Given the description of an element on the screen output the (x, y) to click on. 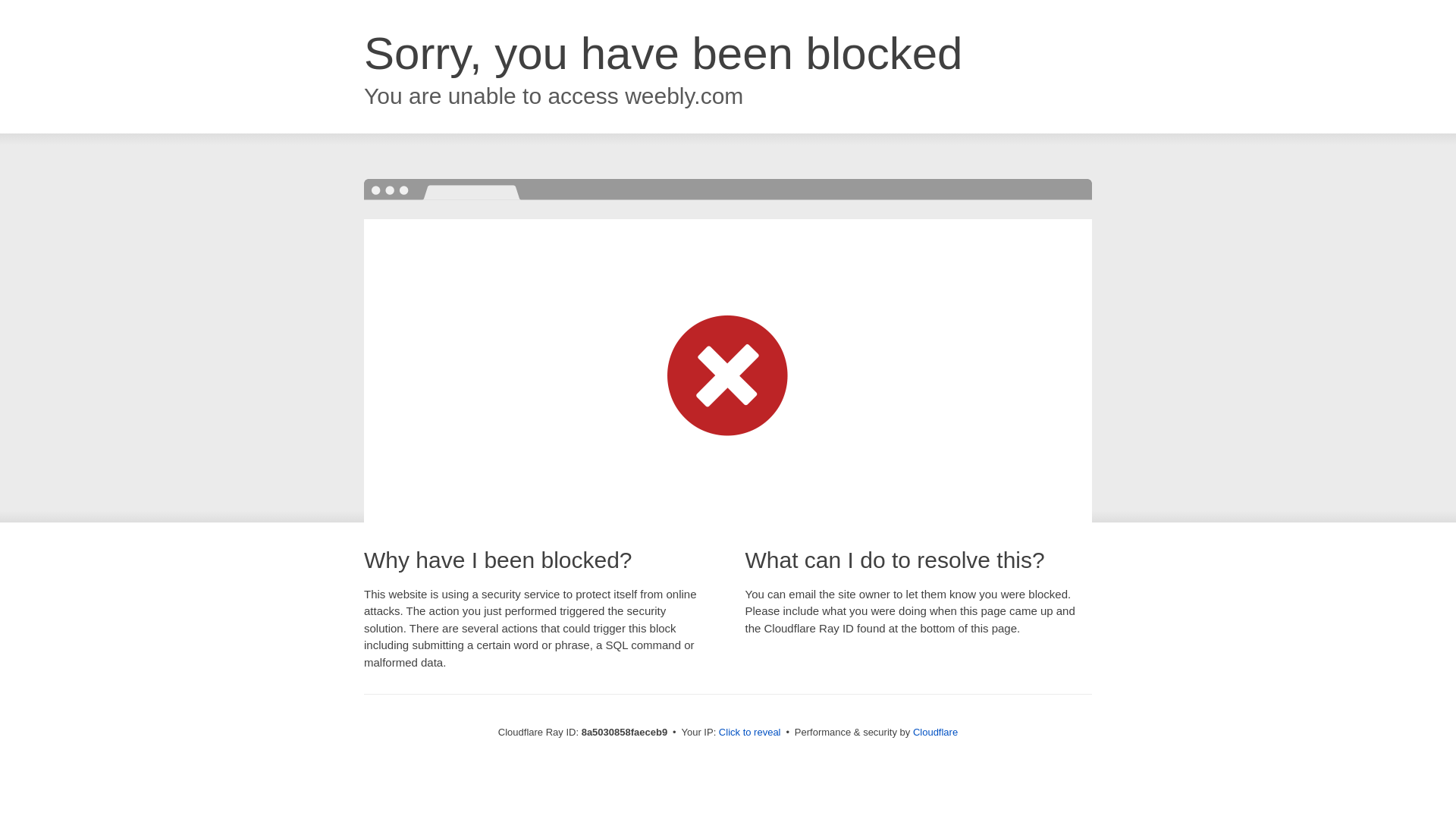
Click to reveal (749, 732)
Cloudflare (935, 731)
